Given the description of an element on the screen output the (x, y) to click on. 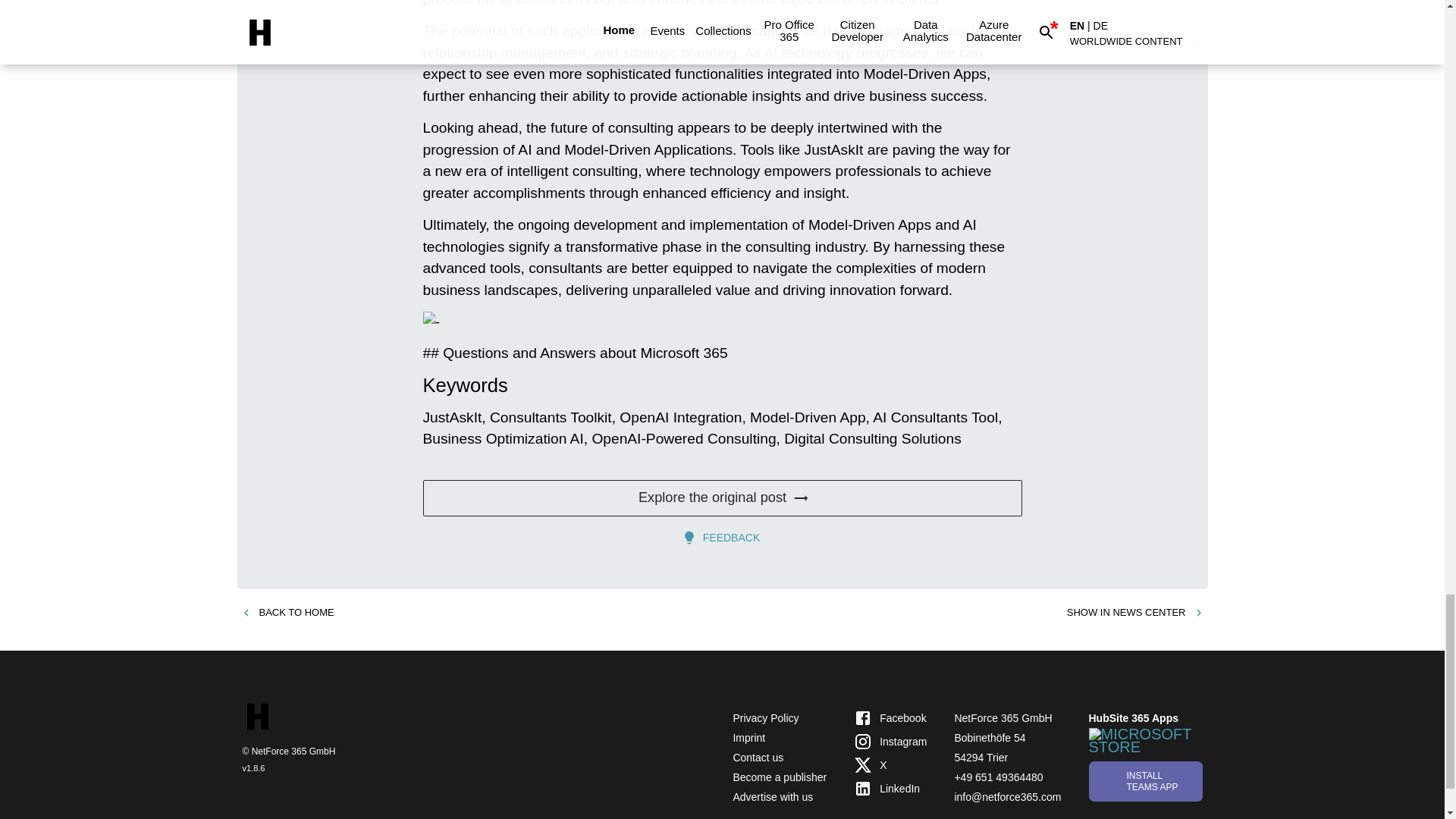
NetForce 365 GmbH (1002, 717)
Privacy Policy (764, 717)
Explore the original post (722, 497)
Contact us (757, 757)
FEEDBACK (721, 538)
Imprint (748, 737)
BACK TO HOME (286, 612)
LinkedIn (889, 788)
Advertise with us (772, 797)
Install app (1145, 781)
